Given the description of an element on the screen output the (x, y) to click on. 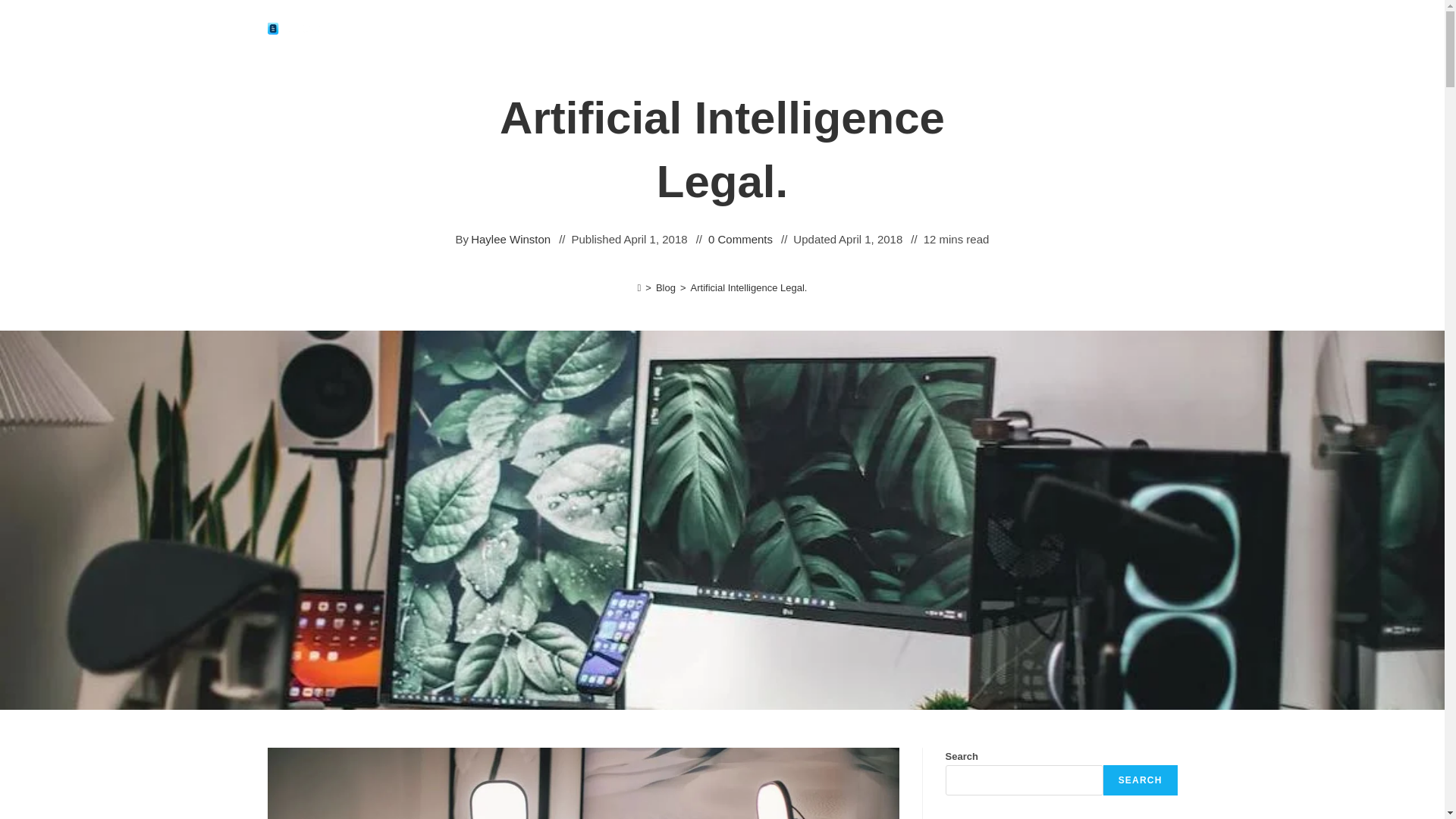
Artificial Intelligence Legal. (749, 287)
Blog (665, 287)
Haylee Winston (510, 239)
0 Comments (740, 239)
